Given the description of an element on the screen output the (x, y) to click on. 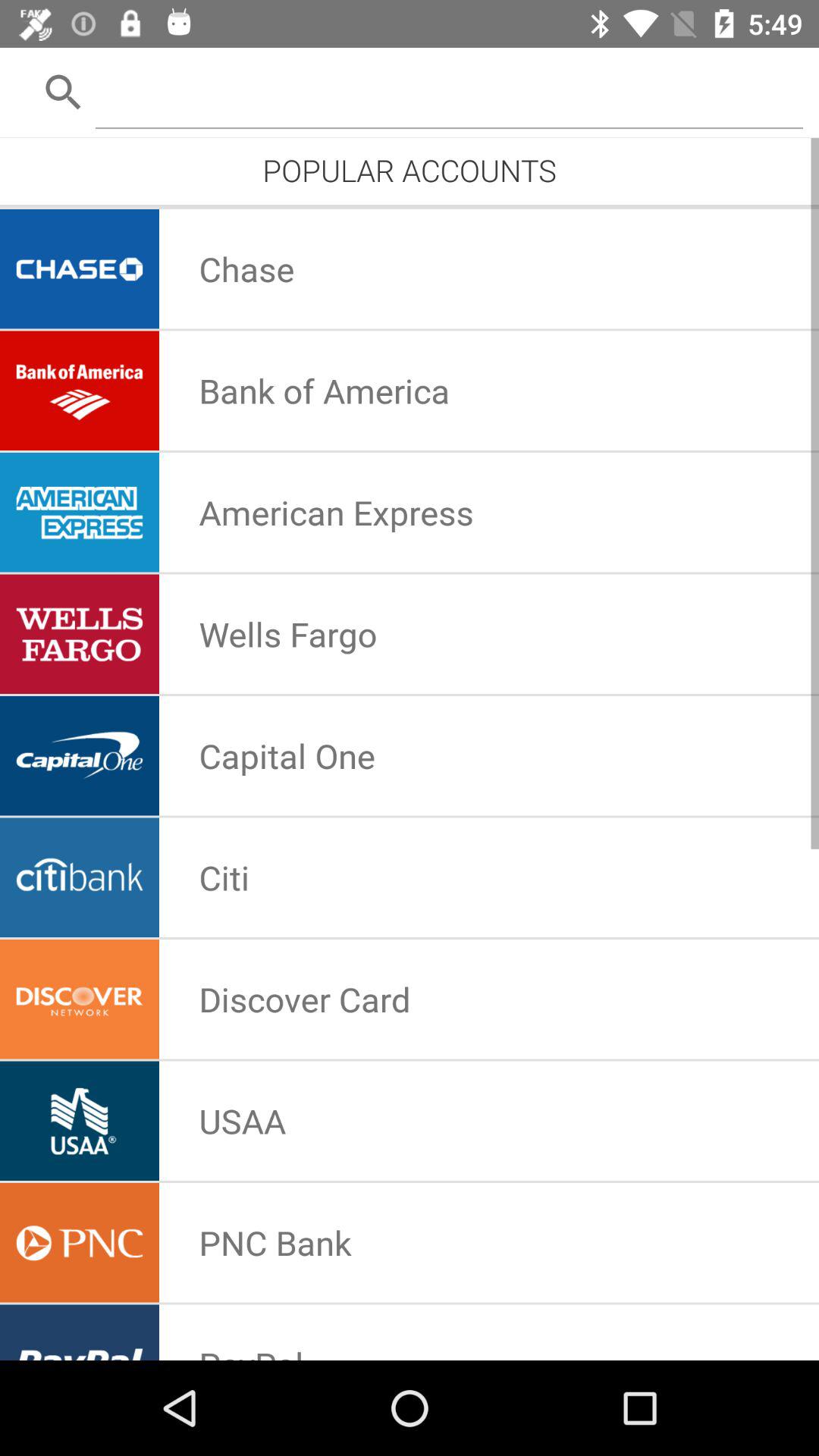
swipe until the usaa app (242, 1120)
